Given the description of an element on the screen output the (x, y) to click on. 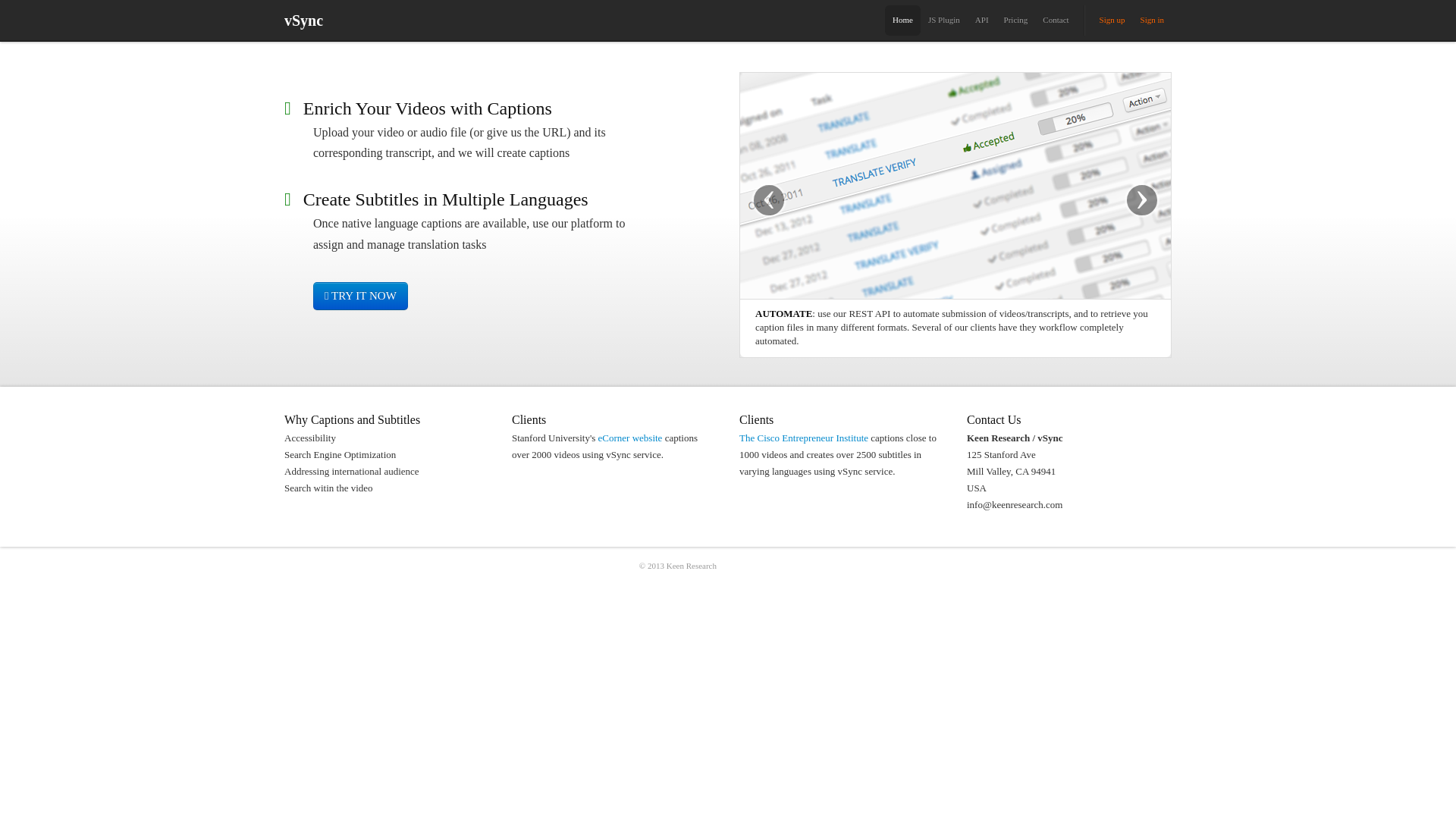
Home (902, 20)
API (981, 20)
eCorner website (630, 437)
vSync (303, 21)
Sign up (1112, 20)
The Cisco Entrepreneur Institute (803, 437)
TRY IT NOW (360, 295)
Contact (1055, 20)
JS Plugin (944, 20)
Pricing (1015, 20)
Sign in (1152, 20)
